Given the description of an element on the screen output the (x, y) to click on. 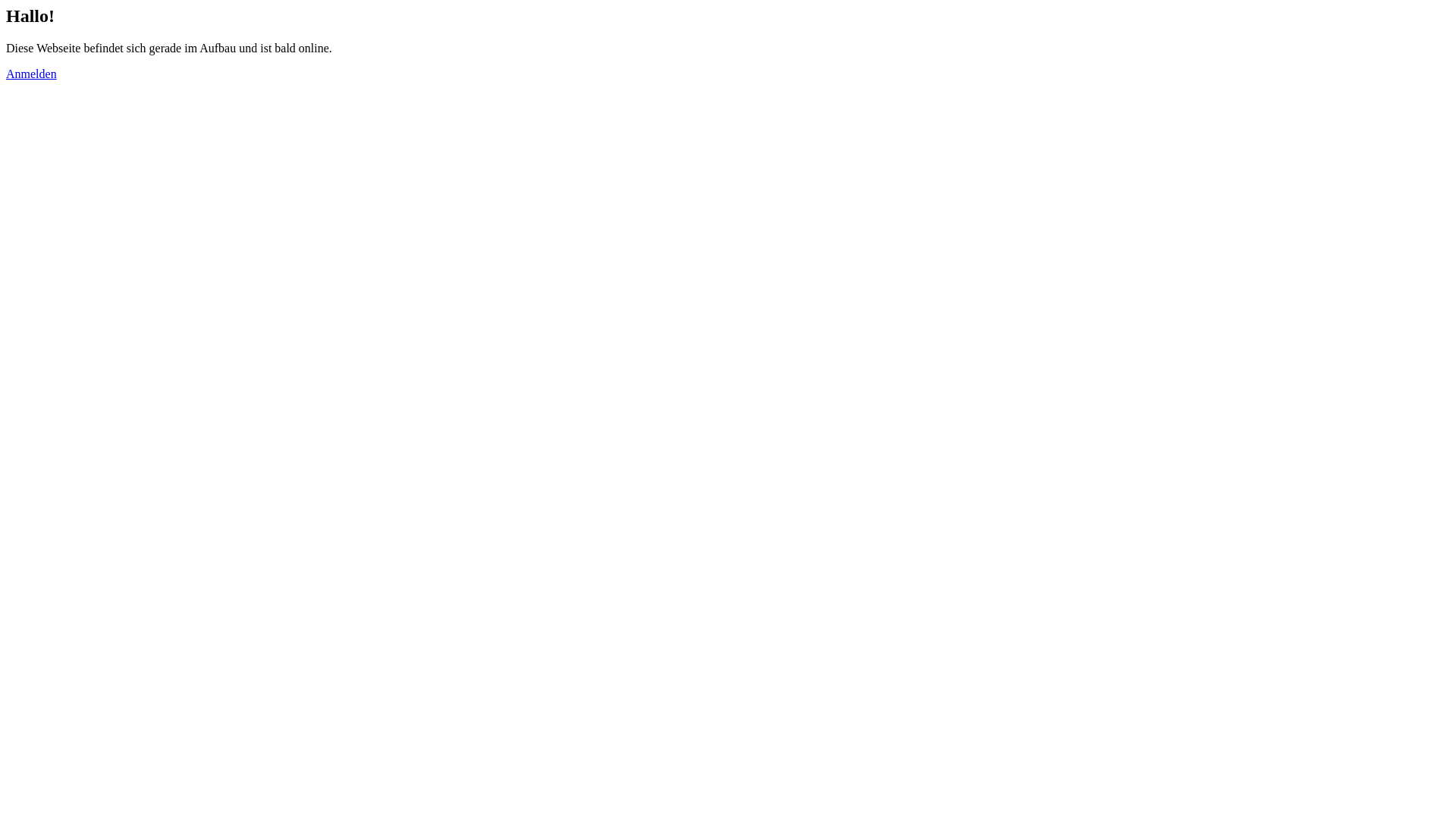
Anmelden Element type: text (31, 73)
